Given the description of an element on the screen output the (x, y) to click on. 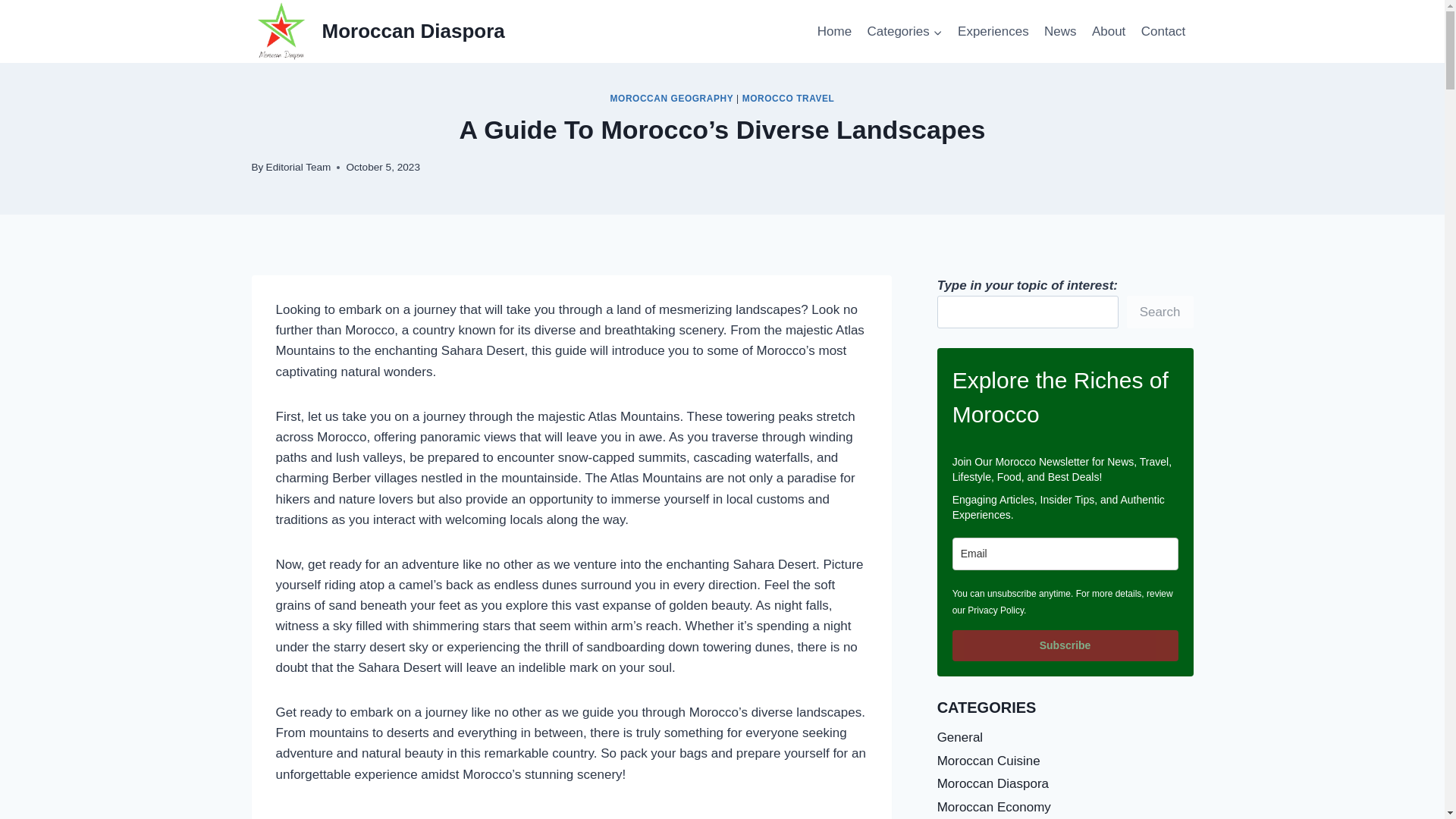
Moroccan Diaspora (378, 31)
About (1109, 31)
Categories (904, 31)
News (1060, 31)
Editorial Team (298, 166)
MOROCCAN GEOGRAPHY (671, 98)
MOROCCO TRAVEL (788, 98)
Home (834, 31)
Experiences (993, 31)
Contact (1163, 31)
